Given the description of an element on the screen output the (x, y) to click on. 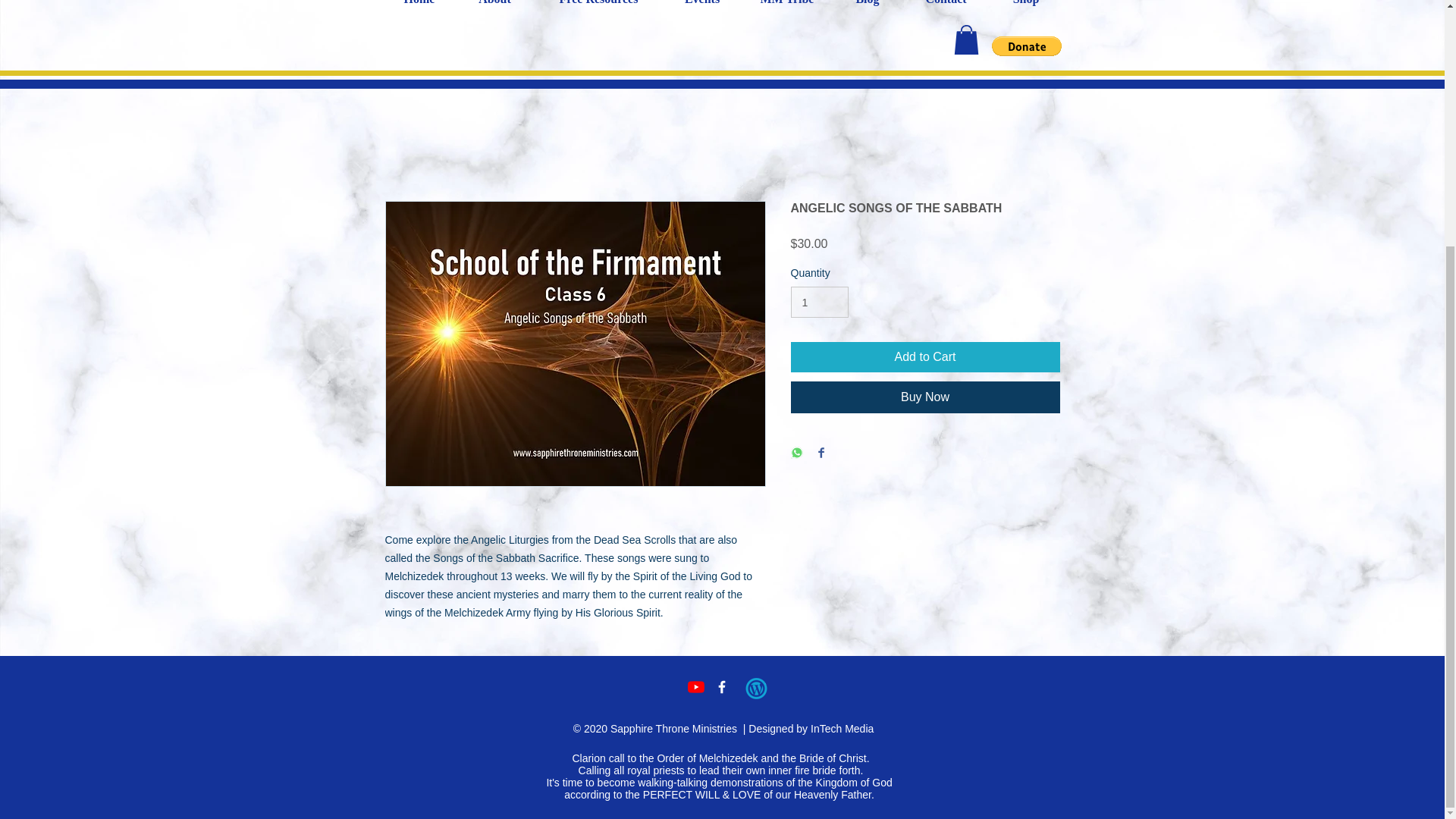
Add to Cart (924, 357)
MM Tribe (785, 7)
Blog (867, 7)
Shop (1025, 7)
Free Resources (598, 7)
About (495, 7)
Buy Now (924, 397)
1 (818, 301)
Events (702, 7)
Home (418, 7)
Contact (945, 7)
